Given the description of an element on the screen output the (x, y) to click on. 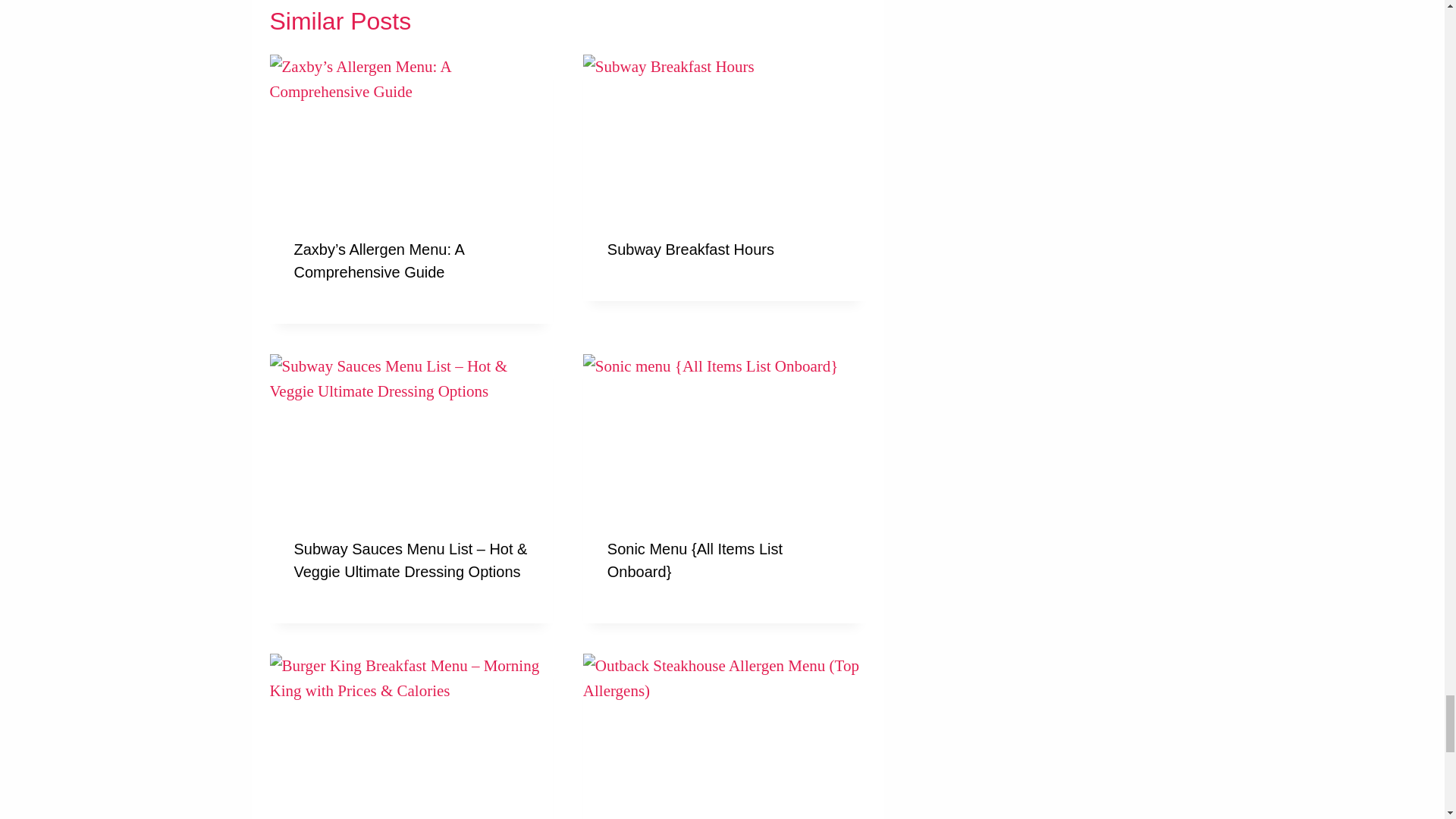
Subway Breakfast Hours (690, 248)
